Given the description of an element on the screen output the (x, y) to click on. 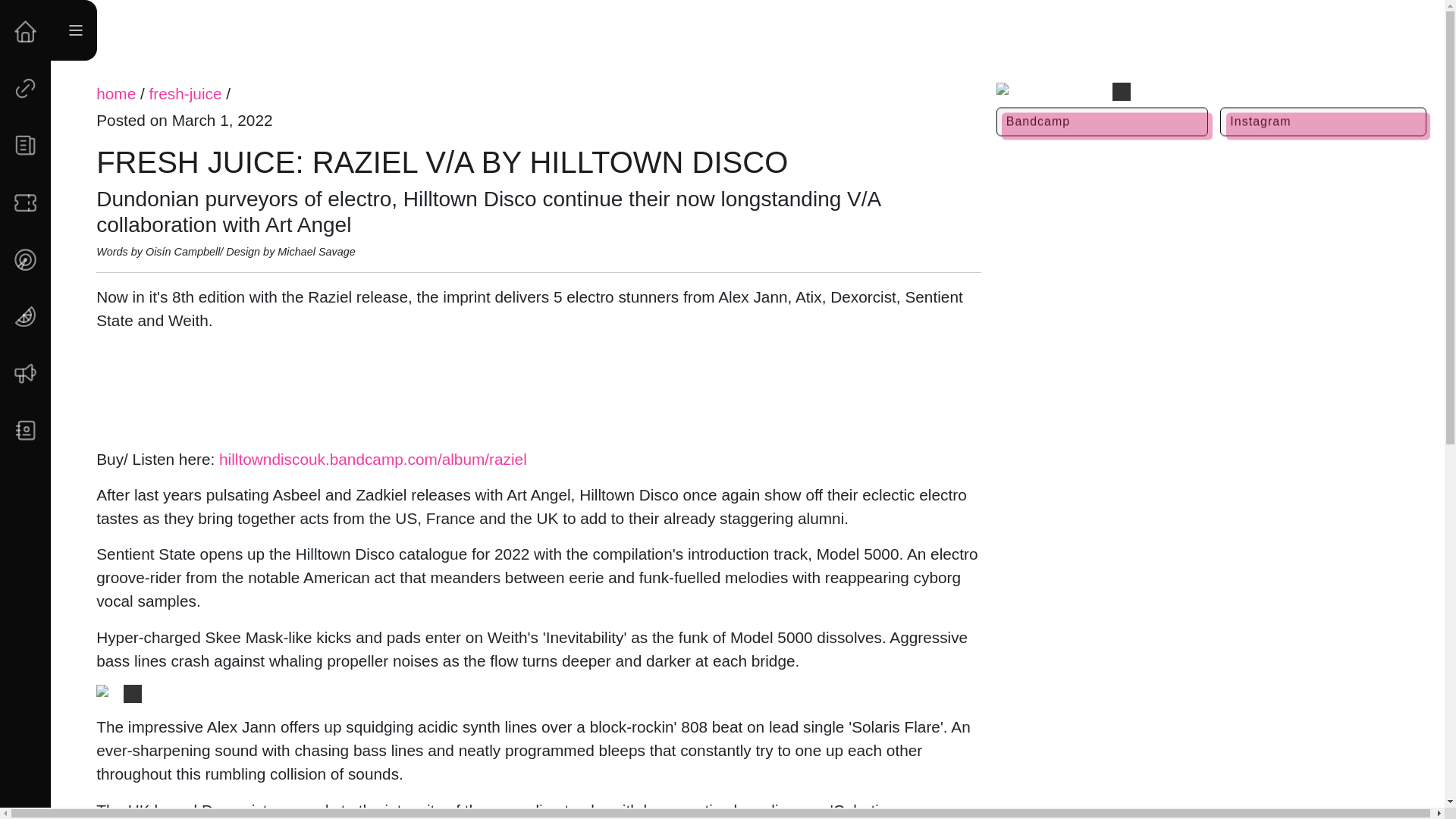
Bandcamp (1101, 121)
fresh-juice (185, 94)
home (115, 94)
